Given the description of an element on the screen output the (x, y) to click on. 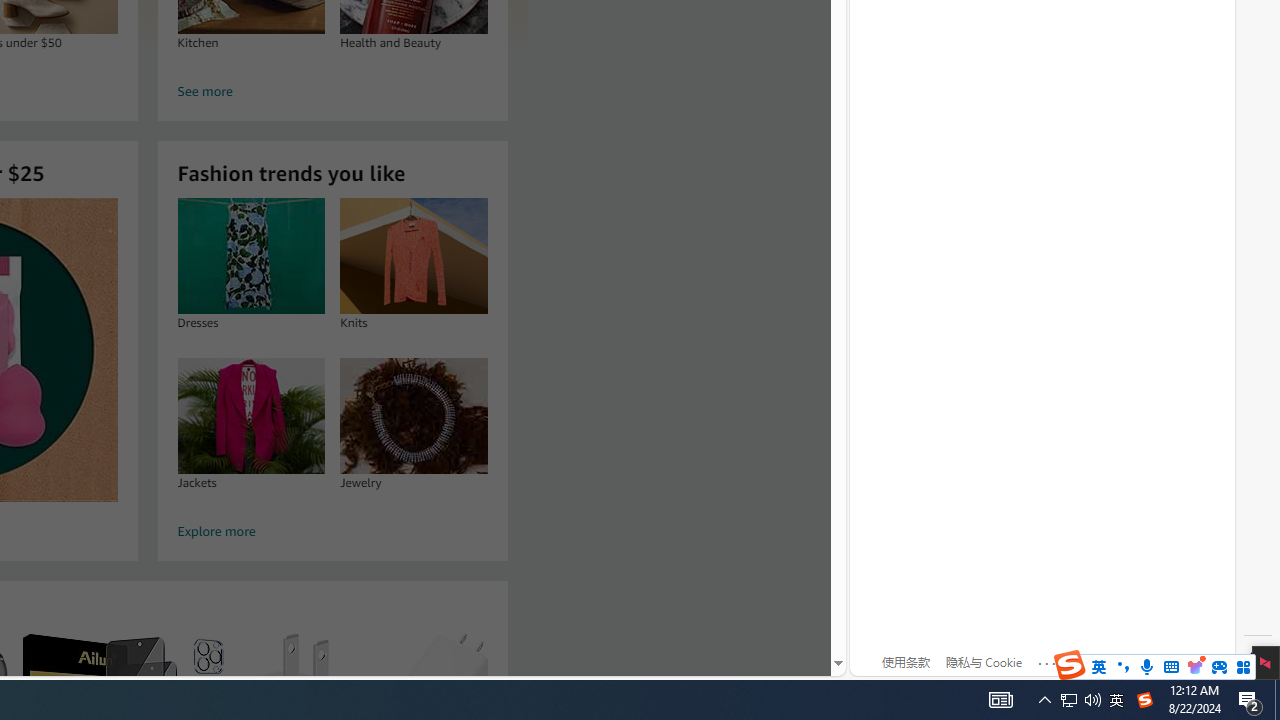
Jackets (250, 415)
Knits (413, 256)
Jackets (250, 415)
Knits (413, 256)
Jewelry (413, 415)
Dresses (250, 256)
Dresses (250, 256)
Jewelry (413, 415)
Explore more (331, 532)
